Given the description of an element on the screen output the (x, y) to click on. 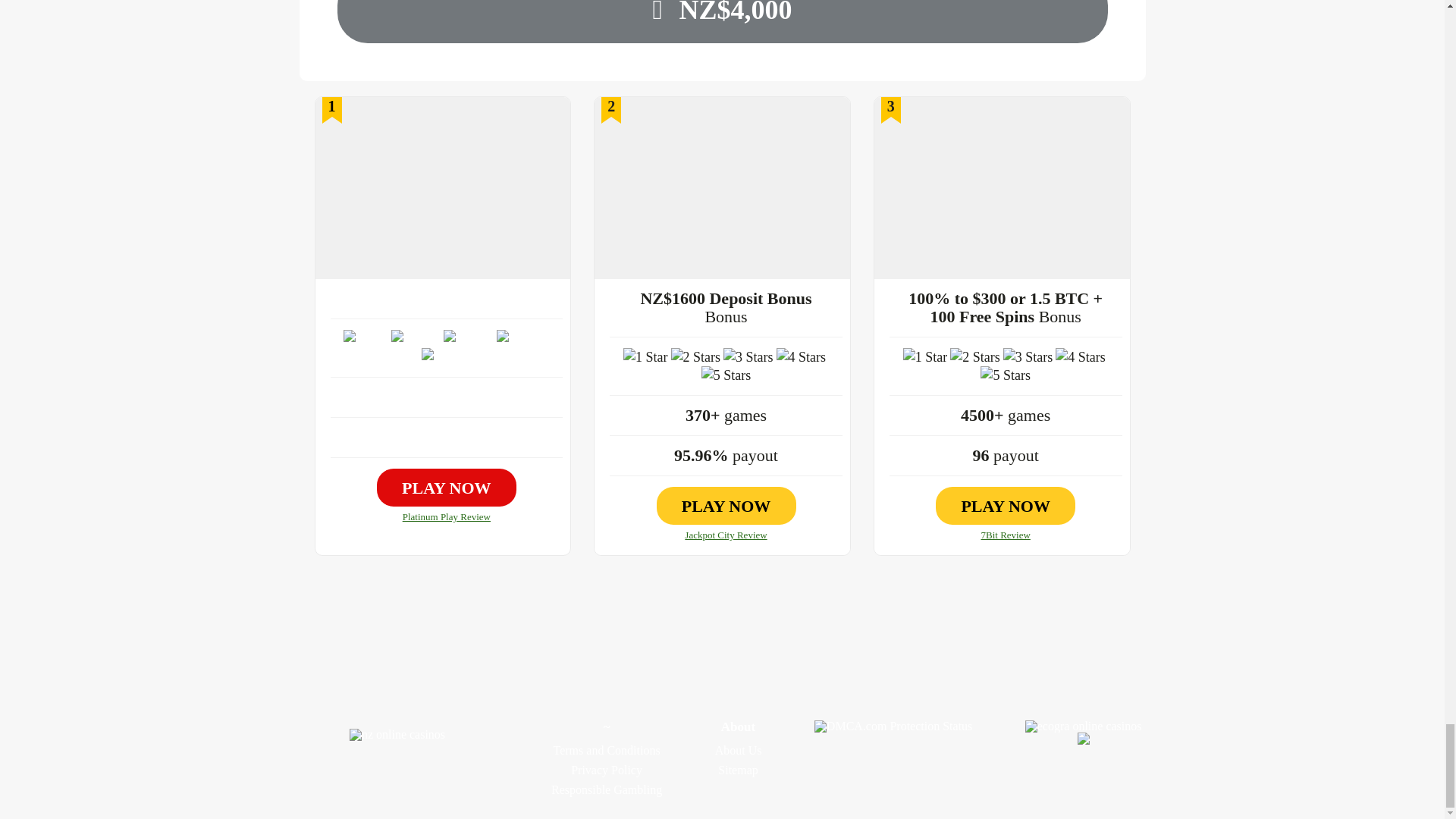
3 Stars (748, 357)
5 Stars (726, 375)
4 Stars (801, 357)
4 Stars (1080, 357)
5 Stars (1004, 375)
1 Star (924, 357)
3 Stars (468, 339)
3 Stars (1027, 357)
5 Stars (446, 357)
2 Stars (416, 339)
2 Stars (975, 357)
2 Stars (694, 357)
1 Star (645, 357)
1 Star (365, 339)
4 Stars (521, 339)
